Given the description of an element on the screen output the (x, y) to click on. 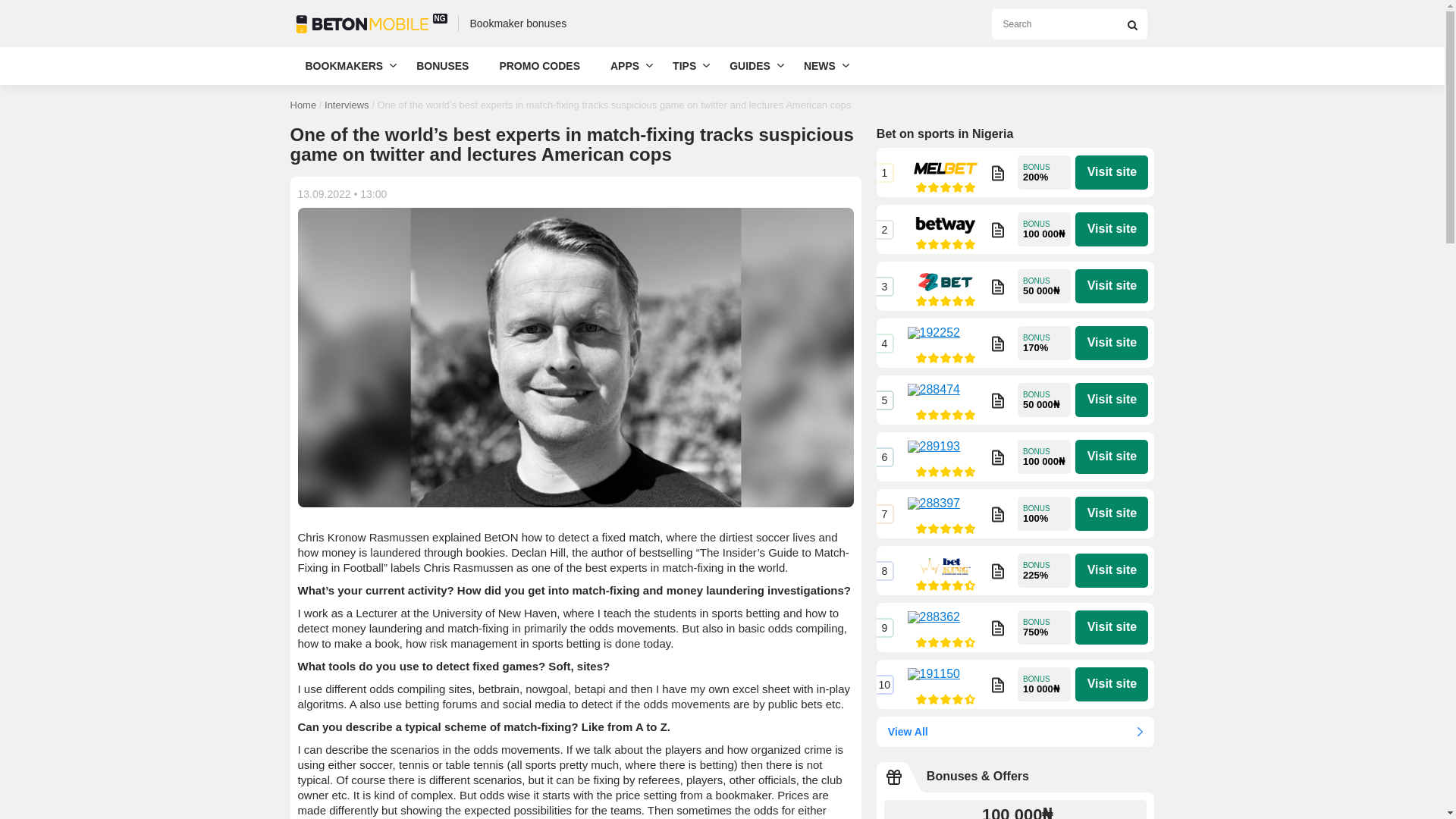
BONUSES (442, 65)
Interviews (346, 105)
PROMO CODES (539, 65)
Home (302, 105)
